Given the description of an element on the screen output the (x, y) to click on. 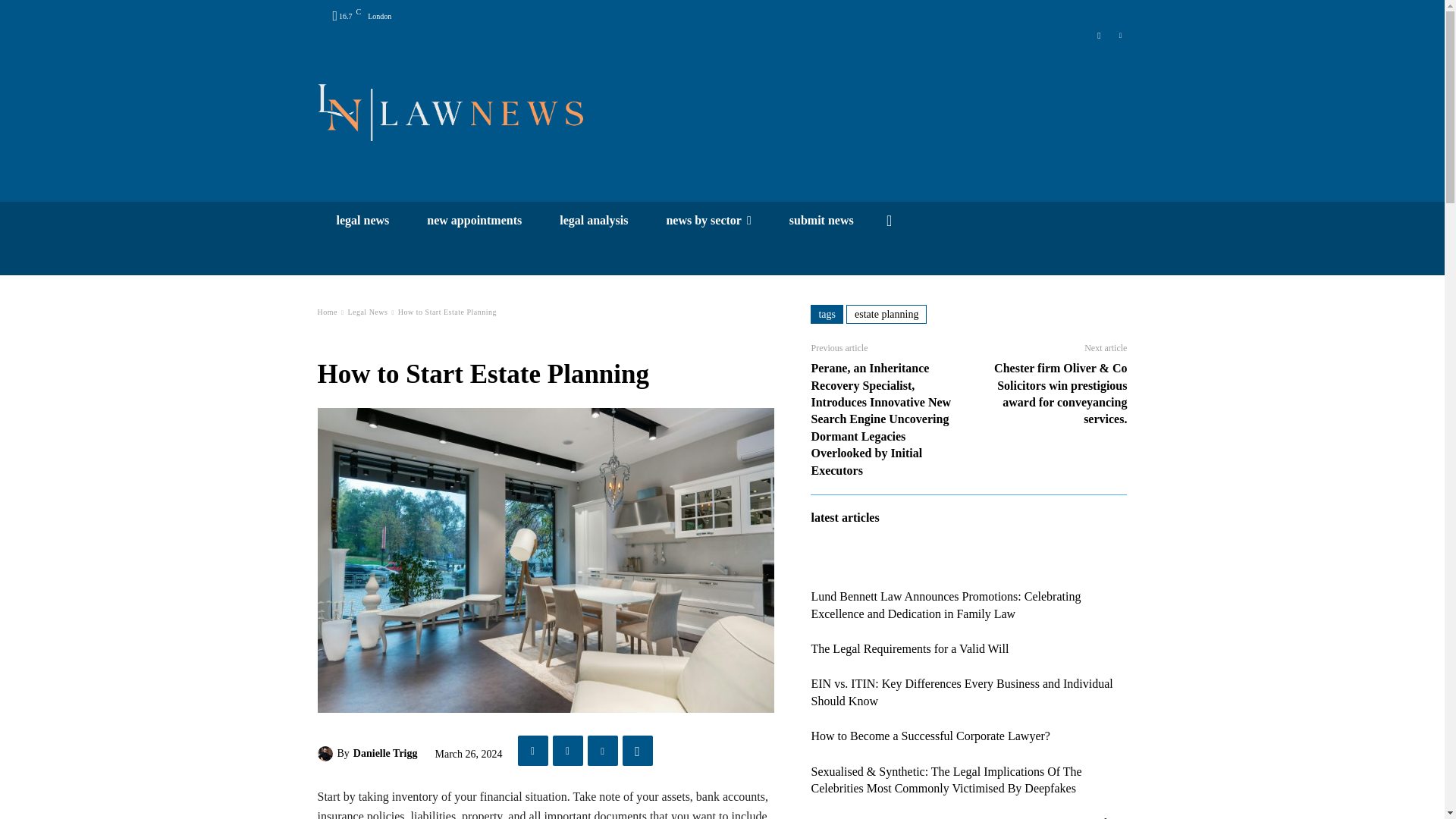
new appointments (473, 220)
legal analysis (593, 220)
submit news (821, 220)
View all posts in Legal News (367, 311)
Twitter (1098, 33)
legal news (362, 220)
Linkedin (1119, 33)
news by sector (708, 220)
Danielle Trigg (326, 753)
